Given the description of an element on the screen output the (x, y) to click on. 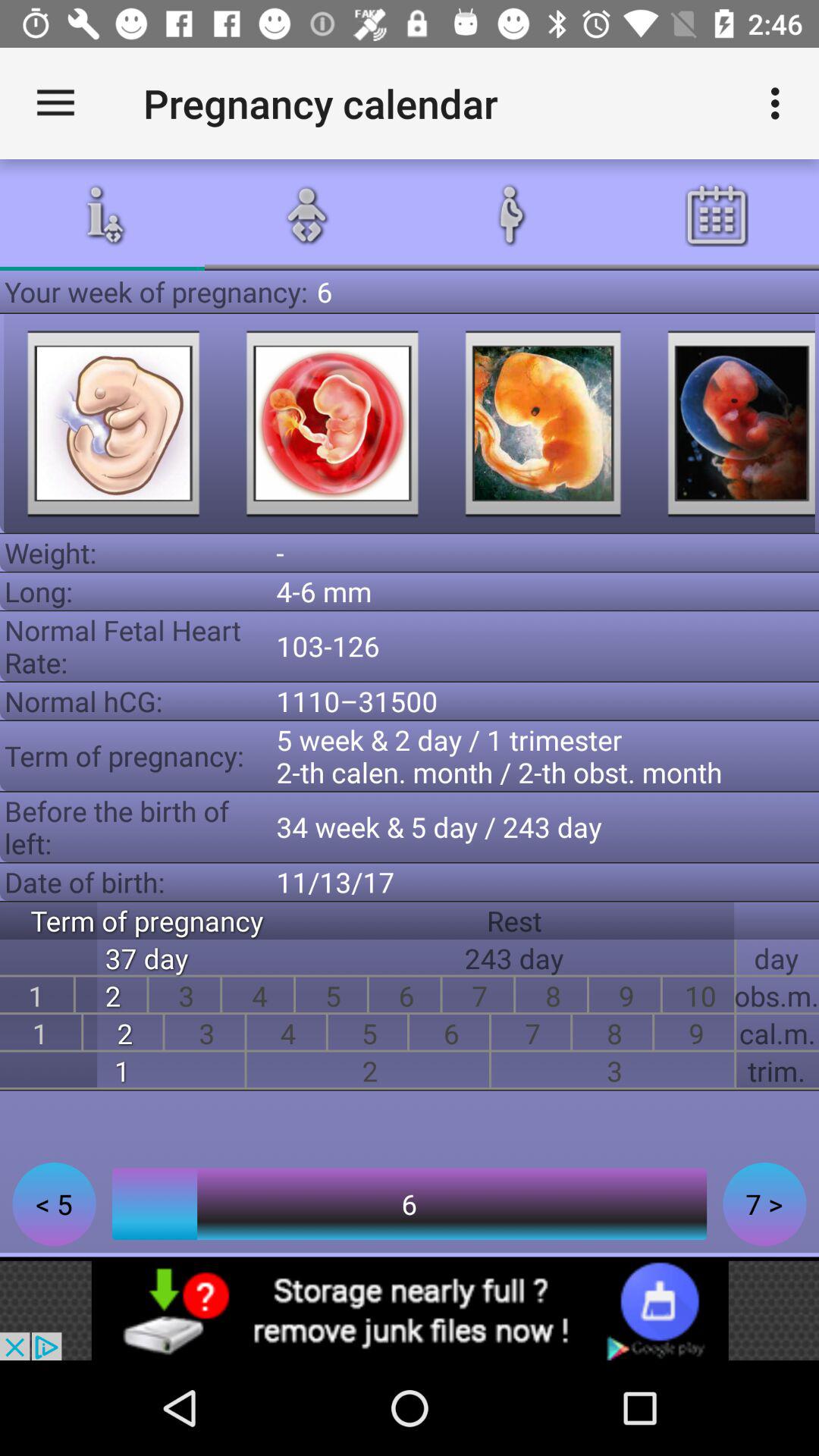
show the development of the fetus (731, 422)
